Given the description of an element on the screen output the (x, y) to click on. 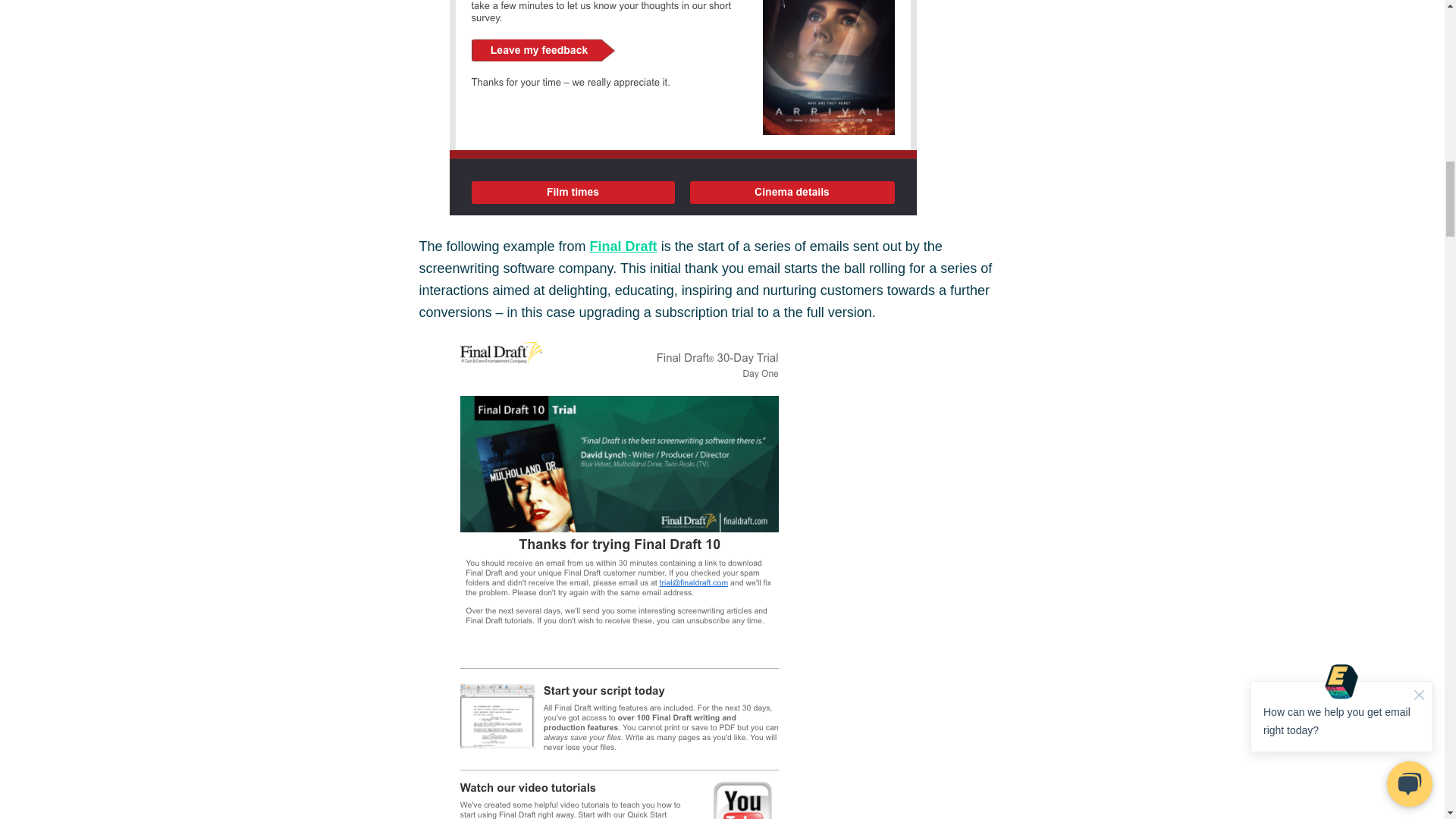
Final Draft (623, 246)
